Given the description of an element on the screen output the (x, y) to click on. 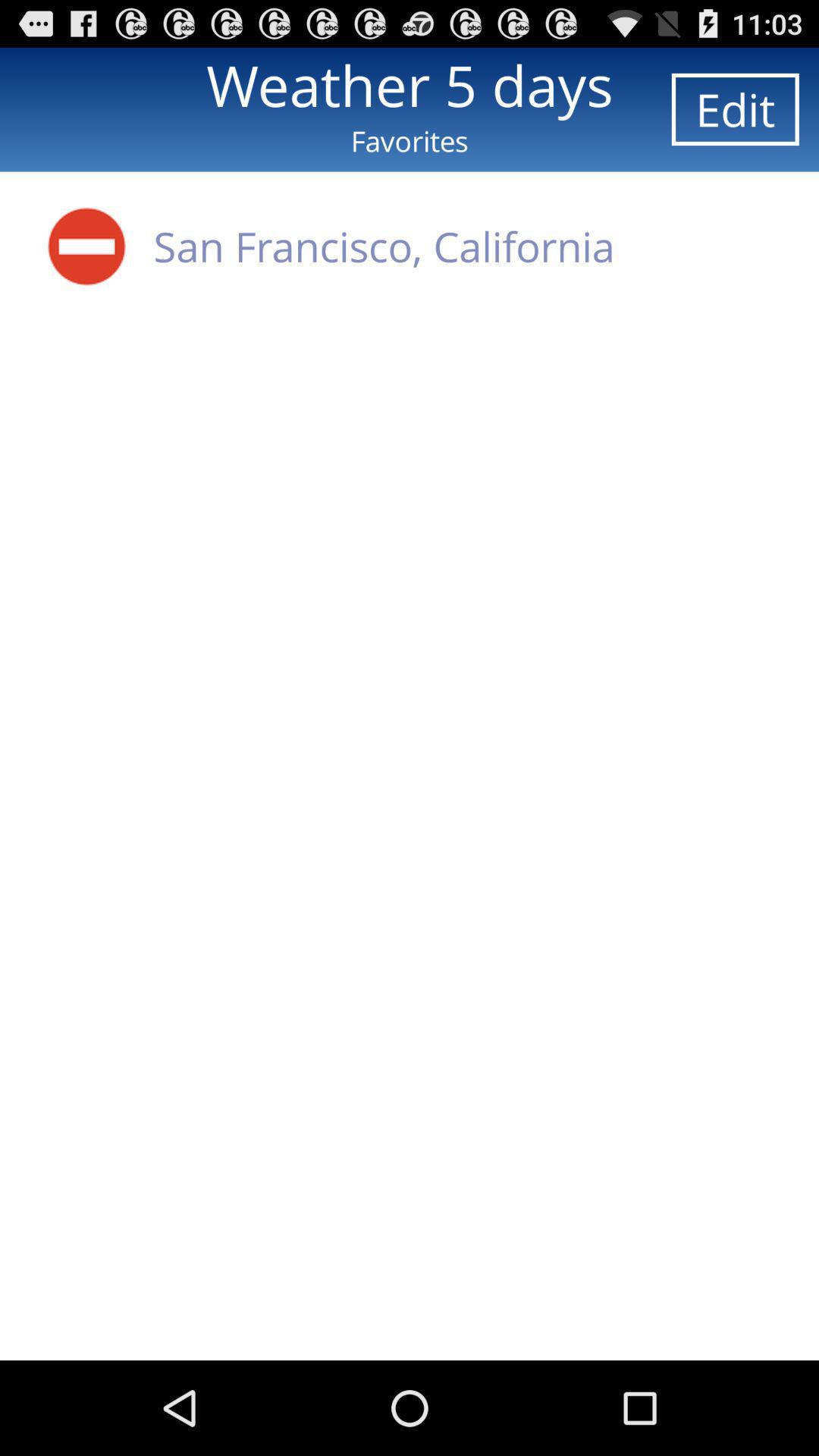
jump until the aa (86, 245)
